Given the description of an element on the screen output the (x, y) to click on. 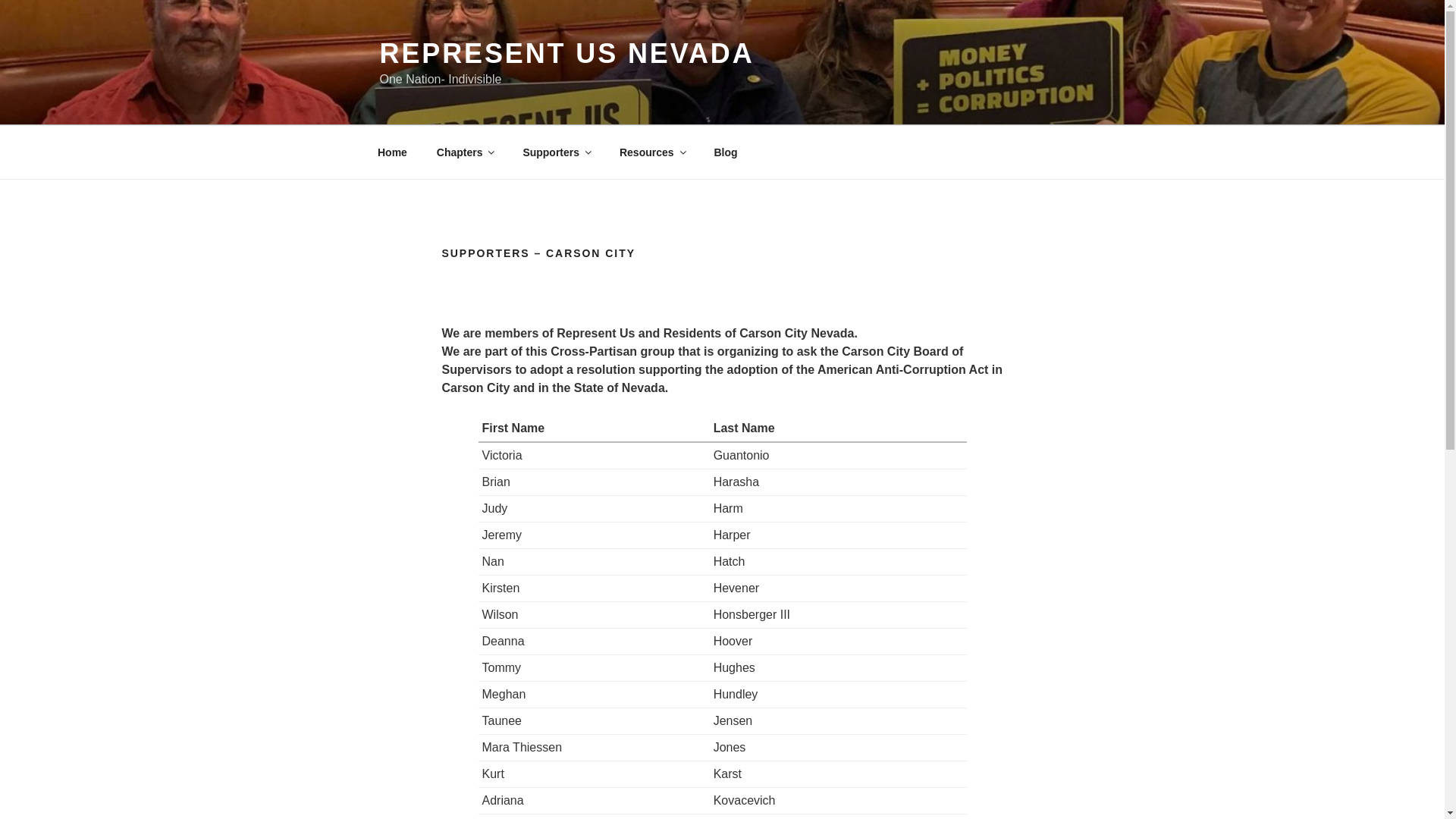
Supporters (556, 151)
Home (392, 151)
Blog (725, 151)
Resources (651, 151)
Chapters (464, 151)
REPRESENT US NEVADA (566, 52)
